Given the description of an element on the screen output the (x, y) to click on. 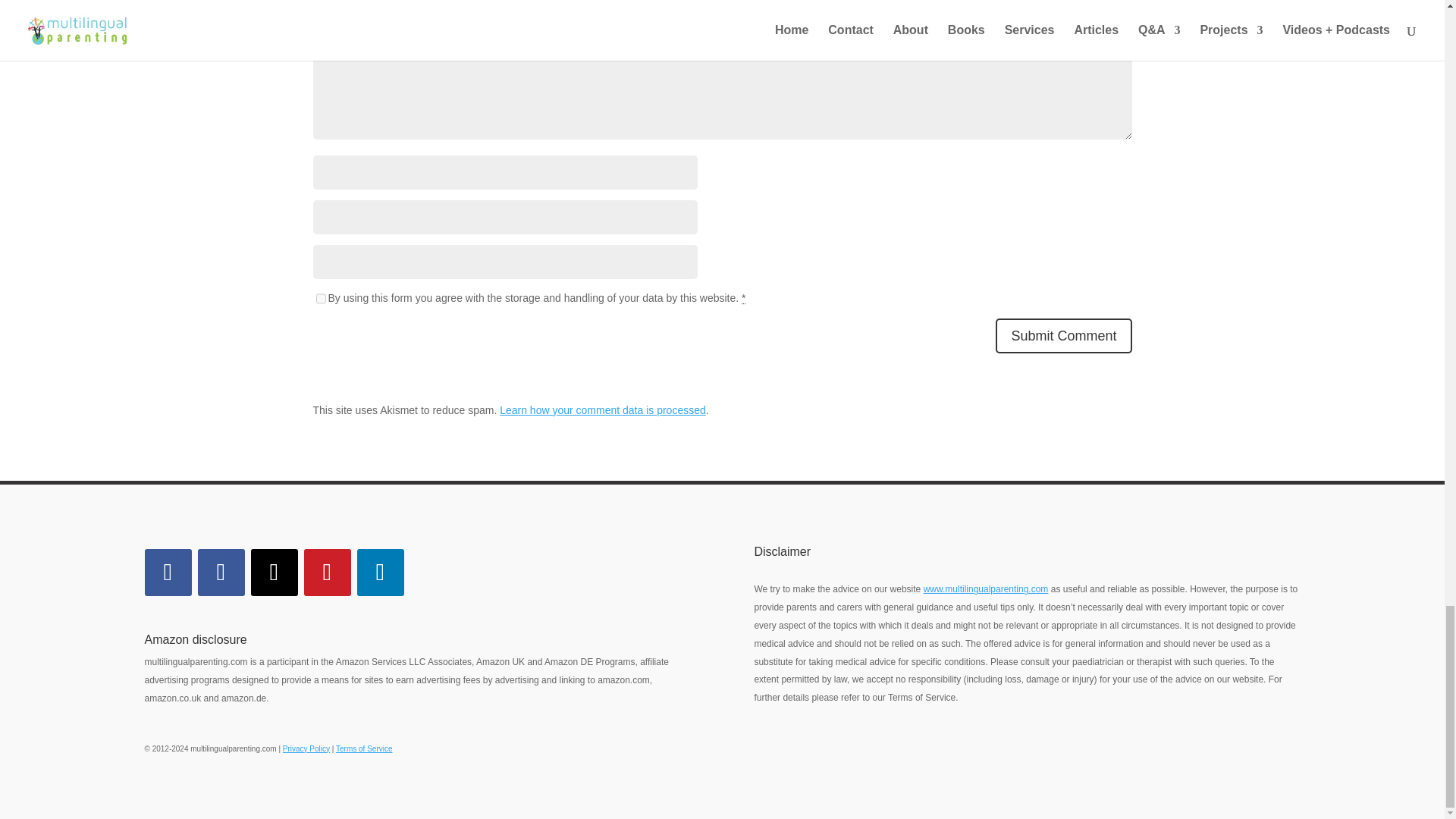
Follow on Pinterest (326, 572)
Follow on X (273, 572)
Follow on LinkedIn (379, 572)
Follow on Facebook (167, 572)
Follow on Facebook (220, 572)
